Given the description of an element on the screen output the (x, y) to click on. 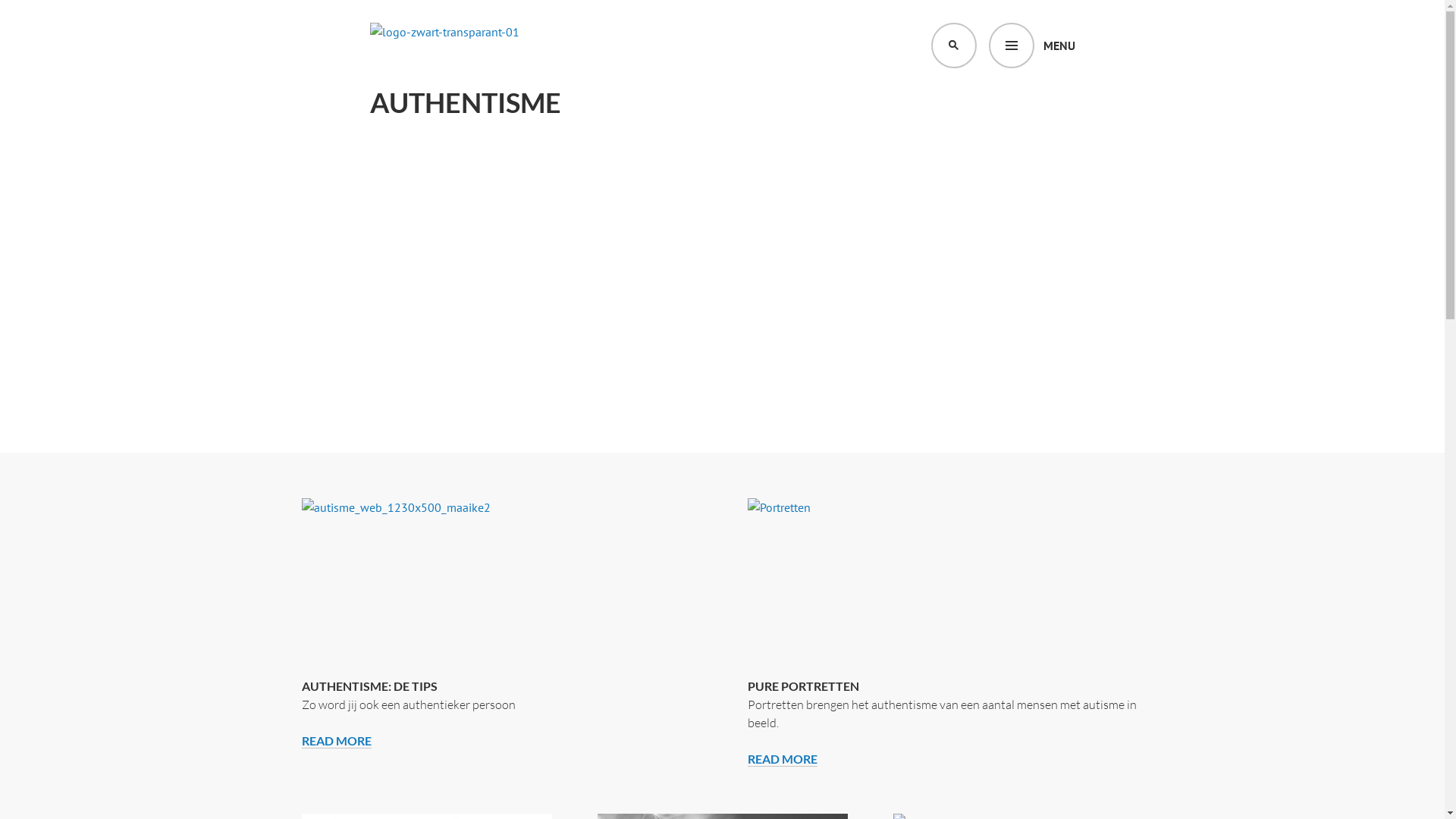
Skip to content Element type: text (0, 0)
PURE PORTRETTEN Element type: text (803, 685)
ONTDEK ALLE PORTRETTEN Element type: text (1216, 413)
AUTHENTISME: DE TIPS Element type: text (369, 685)
READ MORE
PURE PORTRETTEN Element type: text (782, 758)
MENU Element type: text (1031, 45)
AUTHENTISME Element type: text (465, 102)
Zoeken Element type: text (41, 18)
SEARCH Element type: text (953, 45)
READ MORE
AUTHENTISME: DE TIPS Element type: text (336, 740)
